Given the description of an element on the screen output the (x, y) to click on. 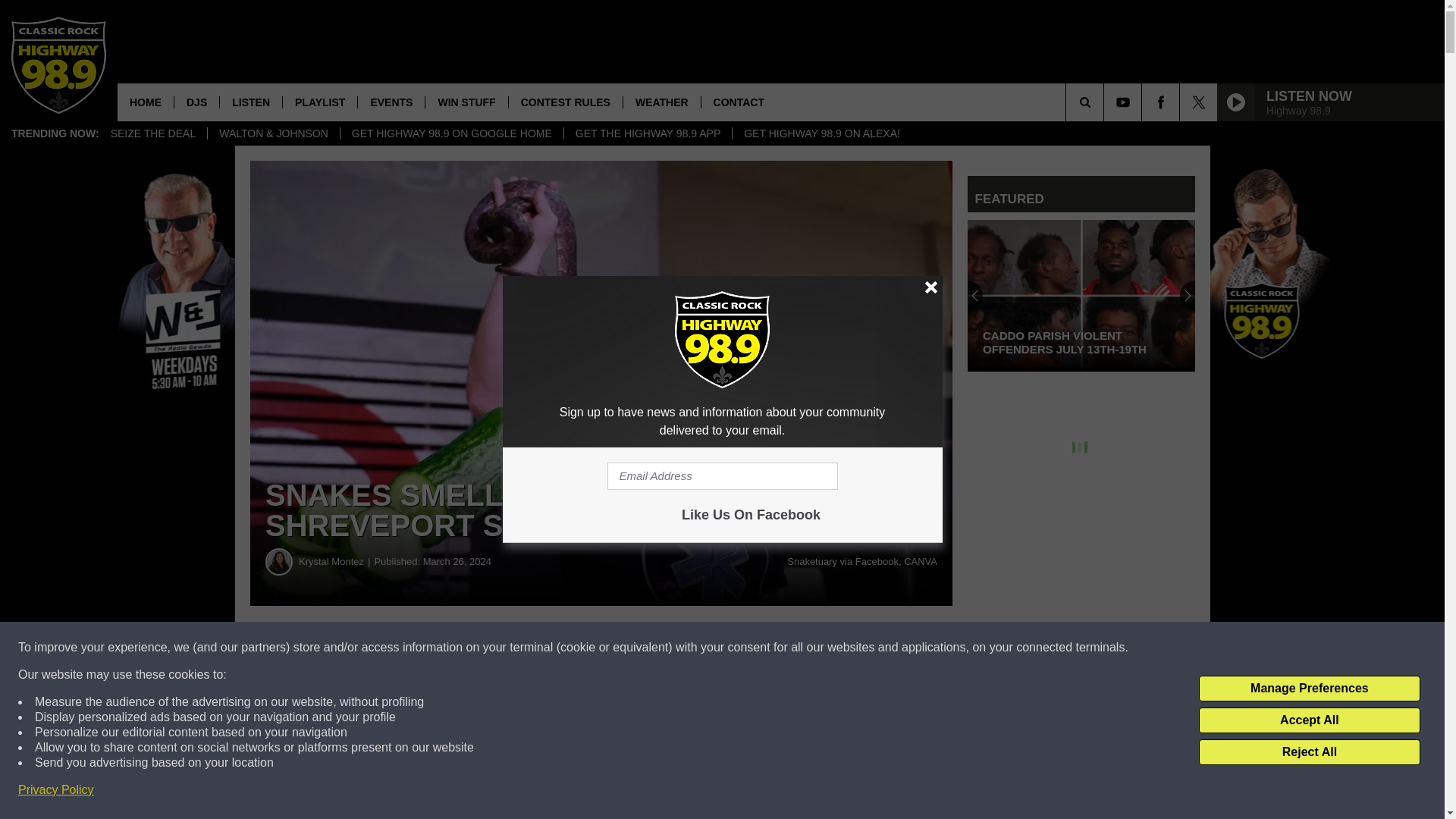
EVENTS (390, 102)
Share on Facebook (460, 647)
CONTEST RULES (565, 102)
GET HIGHWAY 98.9 ON ALEXA! (821, 133)
SEARCH (1106, 102)
LISTEN (250, 102)
SEARCH (1106, 102)
HOME (145, 102)
DJS (196, 102)
Share on Twitter (741, 647)
PLAYLIST (319, 102)
Accept All (1309, 720)
Privacy Policy (55, 789)
GET THE HIGHWAY 98.9 APP (647, 133)
GET HIGHWAY 98.9 ON GOOGLE HOME (451, 133)
